Given the description of an element on the screen output the (x, y) to click on. 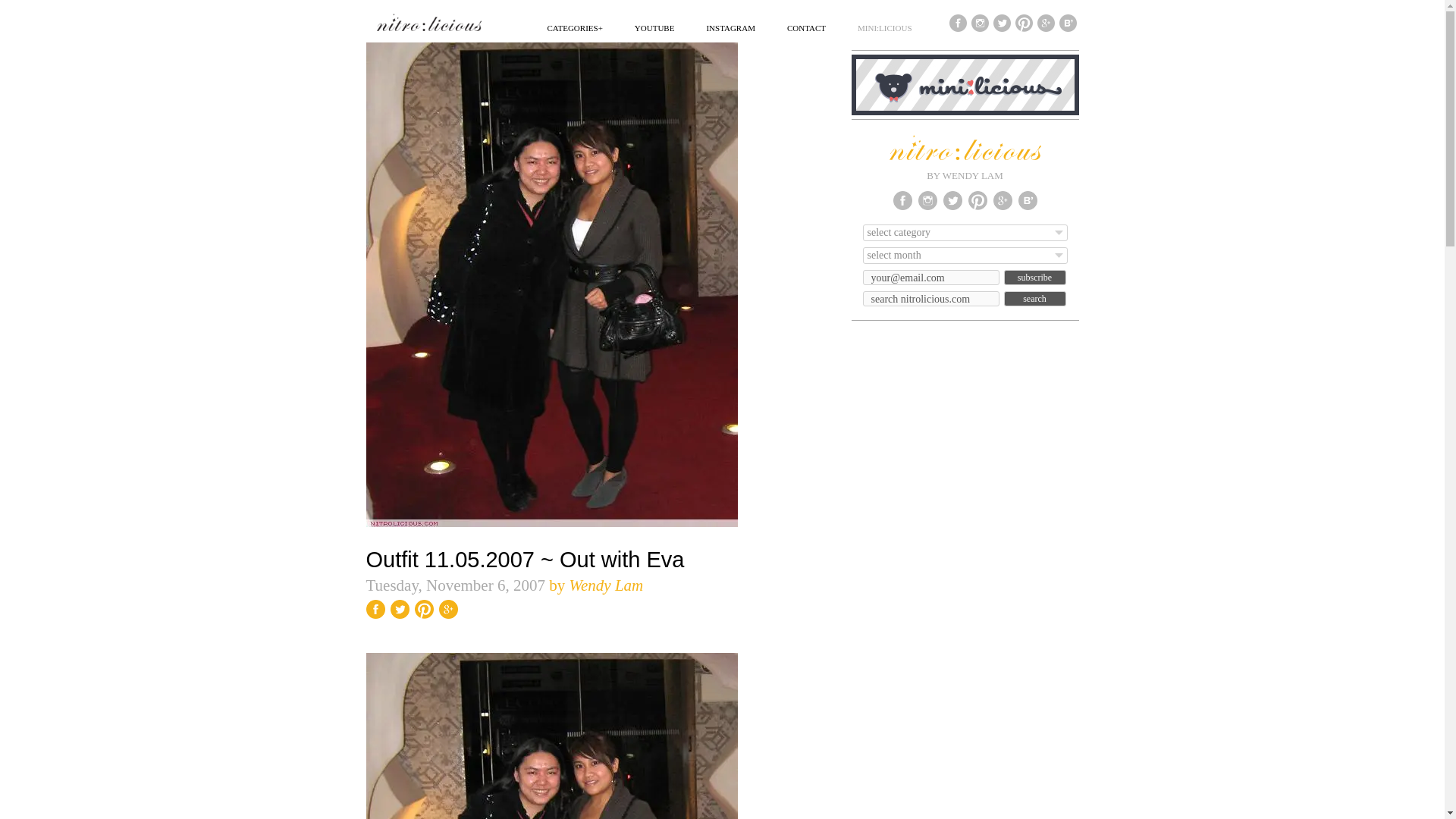
Wendy Lam (606, 585)
INSTAGRAM (730, 28)
CONTACT (806, 28)
MINI:LICIOUS (884, 28)
Search (1034, 298)
Subscribe (1034, 277)
YOUTUBE (654, 28)
